Given the description of an element on the screen output the (x, y) to click on. 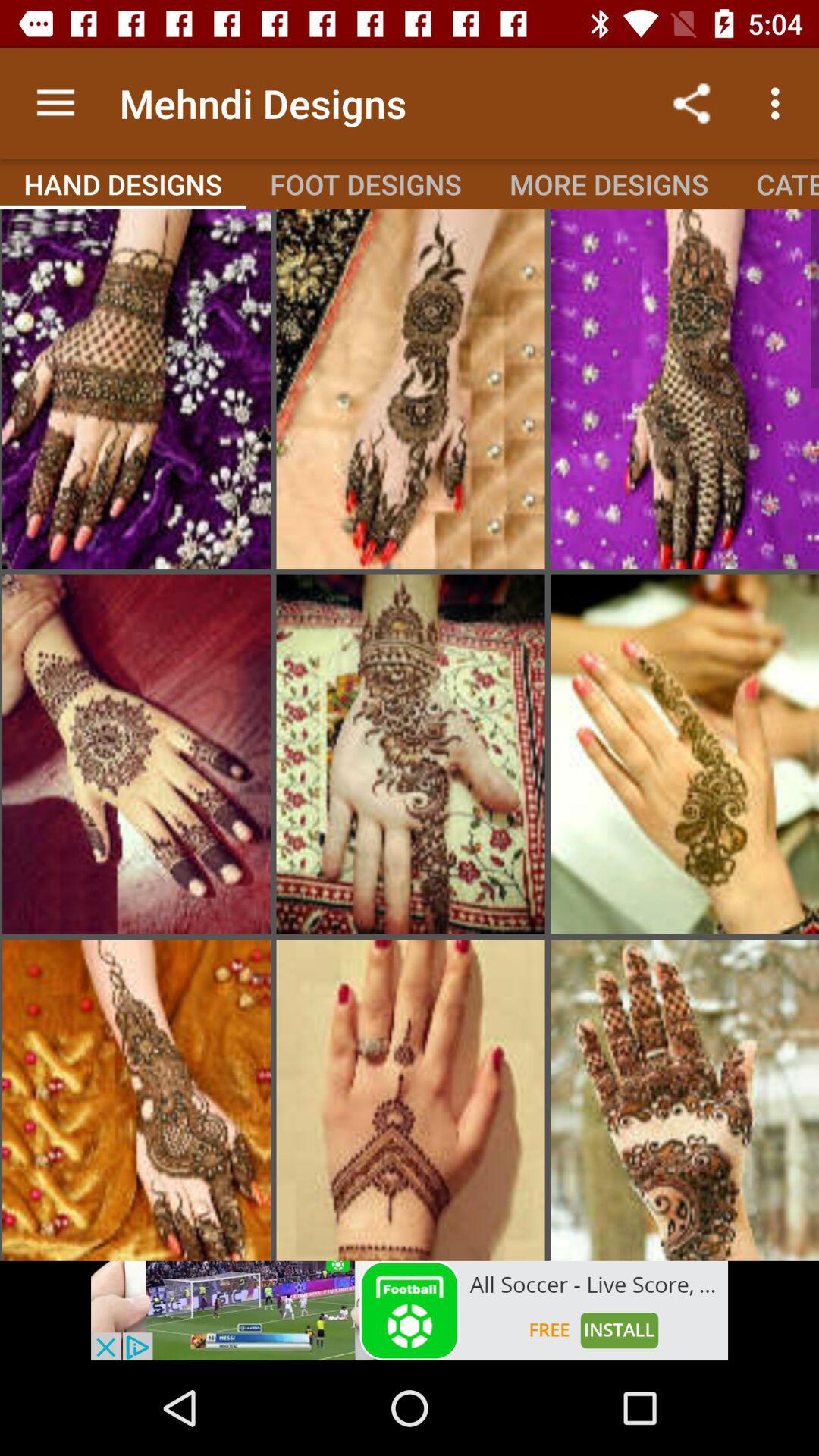
select the picture (410, 753)
